Given the description of an element on the screen output the (x, y) to click on. 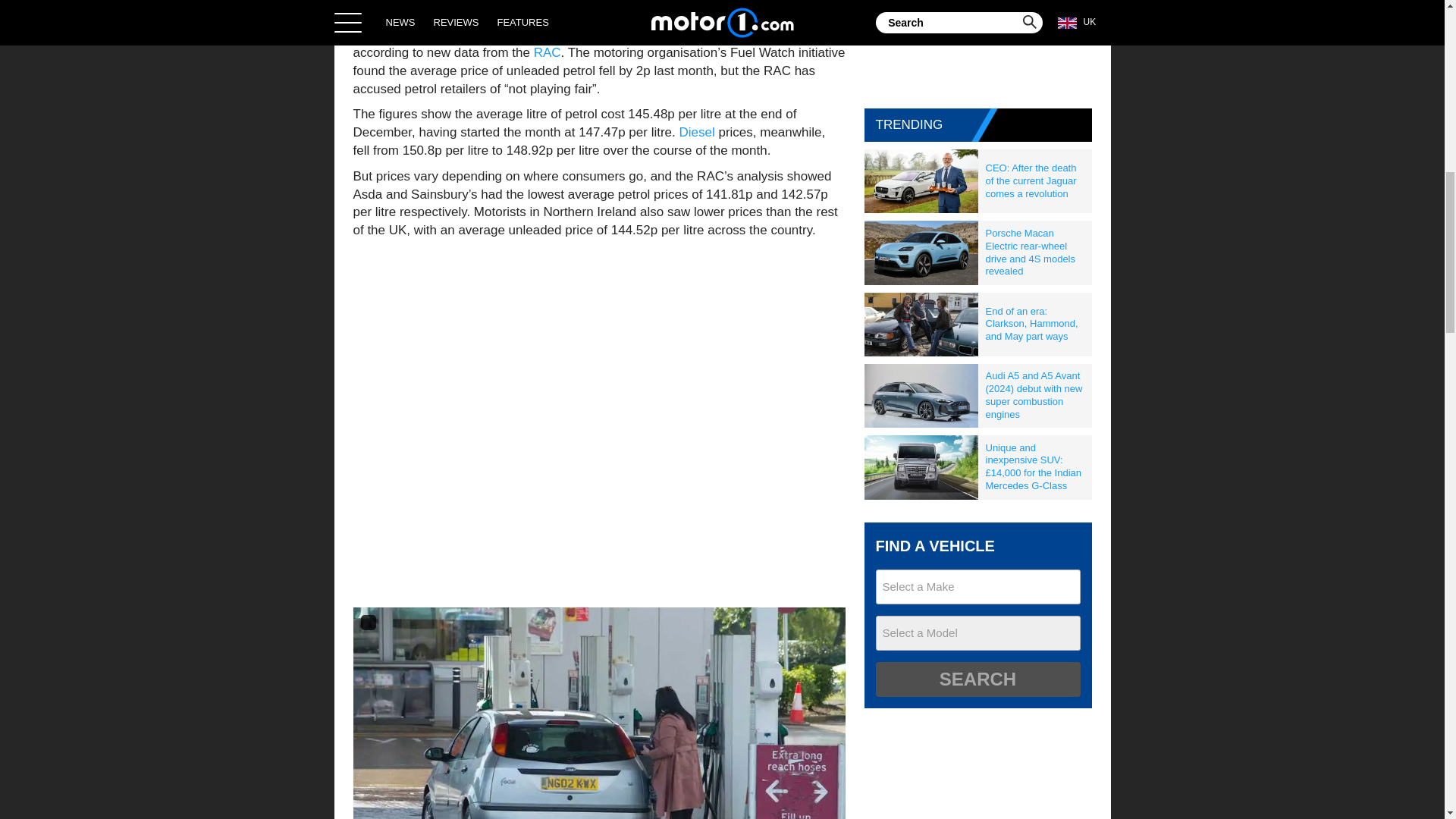
End of an era: Clarkson, Hammond, and May part ways (1035, 324)
petrol prices (409, 34)
Diesel (696, 132)
RAC (547, 52)
Search (977, 678)
